Given the description of an element on the screen output the (x, y) to click on. 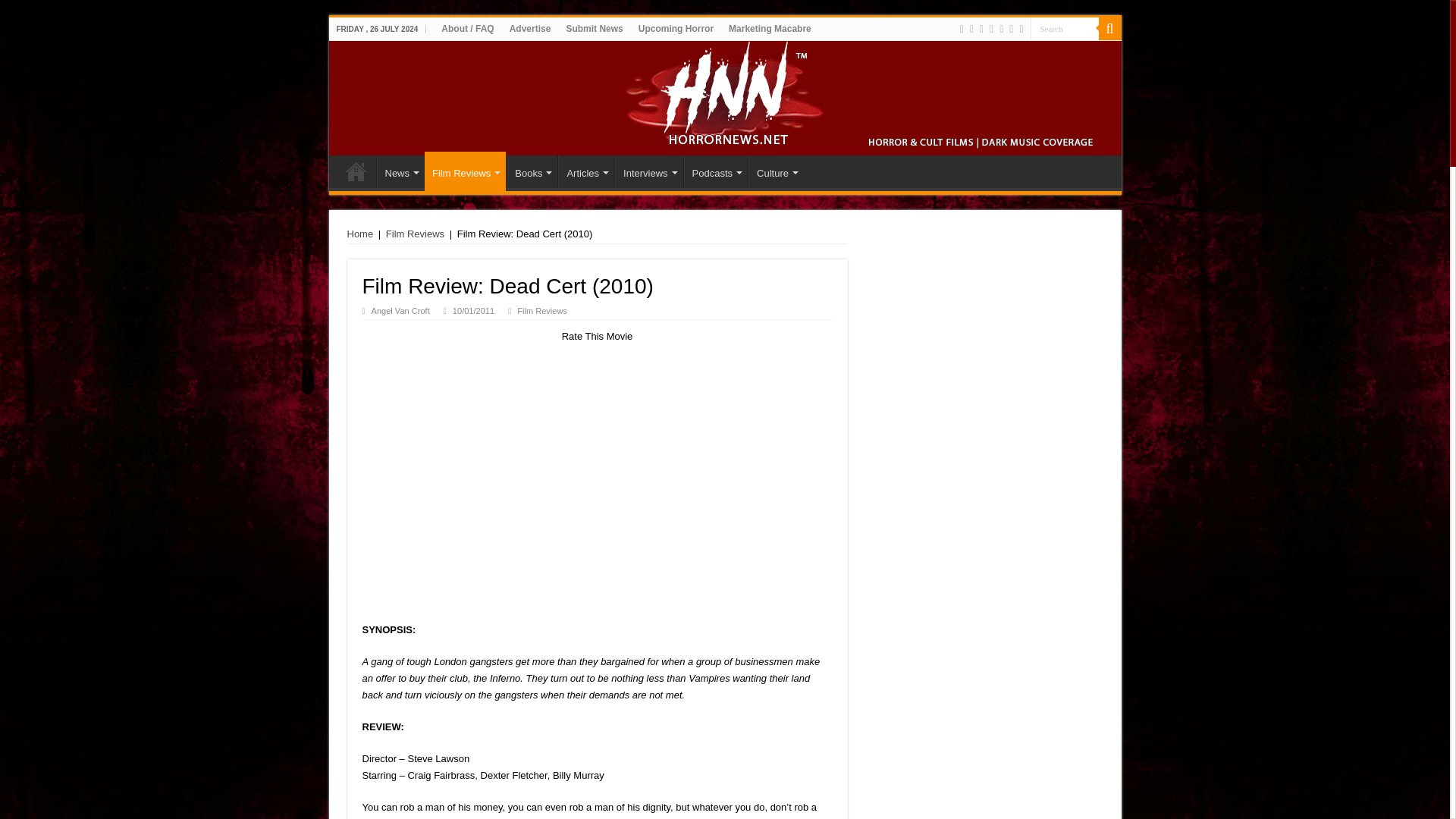
Search (1109, 28)
Submit News to Horrornews.net (593, 28)
Advertise on HorrorNews.net (530, 28)
Upcoming Horror (675, 28)
HOME (355, 171)
Marketing Macabre (769, 28)
Film Reviews (465, 170)
Search (1063, 28)
News (400, 171)
Search (1063, 28)
Search (1063, 28)
Advertise (530, 28)
Submit News (593, 28)
